Given the description of an element on the screen output the (x, y) to click on. 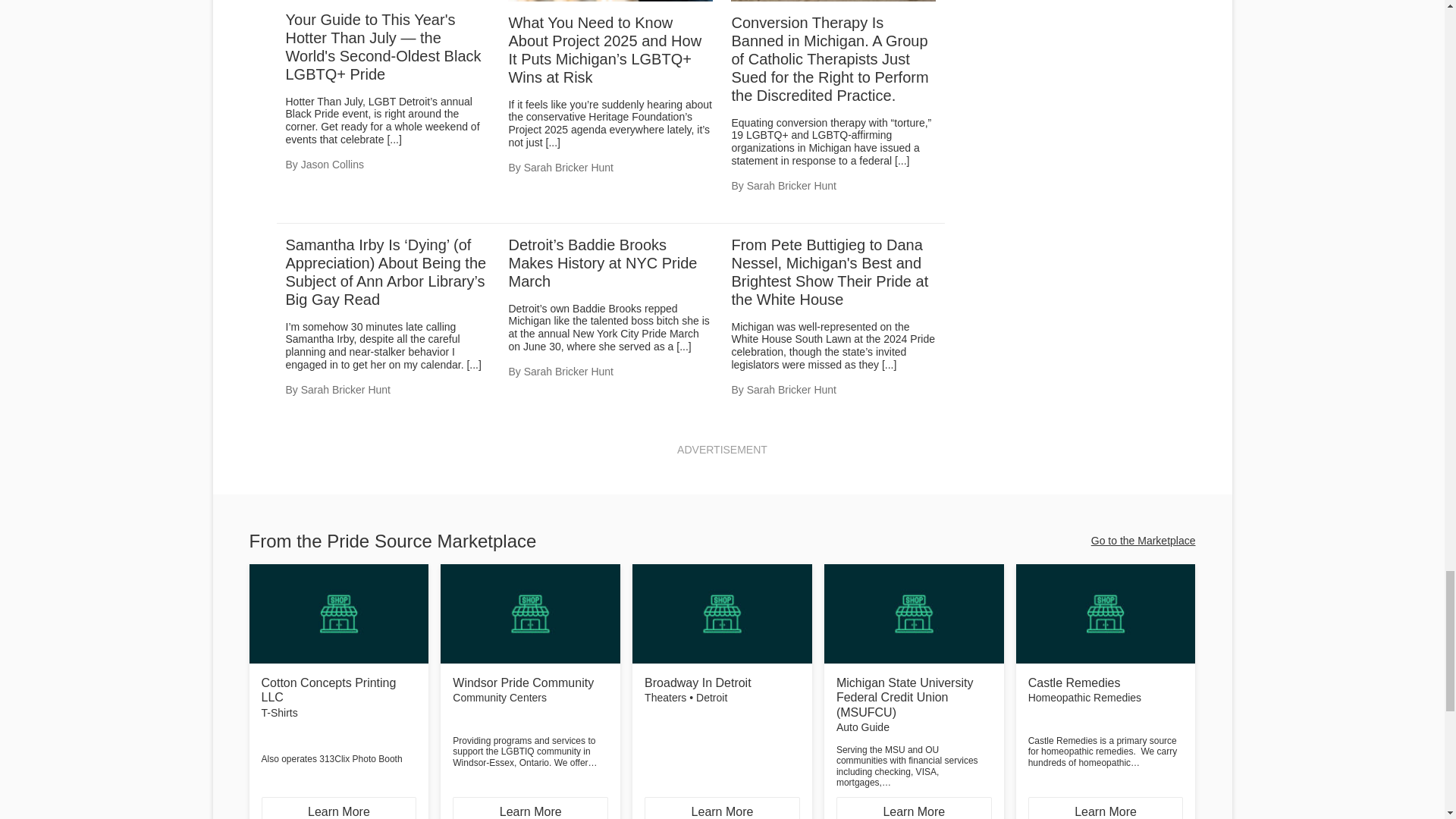
Read More (553, 142)
Read More (683, 346)
Read More (901, 160)
Read More (889, 364)
Read More (472, 364)
Read More (394, 139)
